Given the description of an element on the screen output the (x, y) to click on. 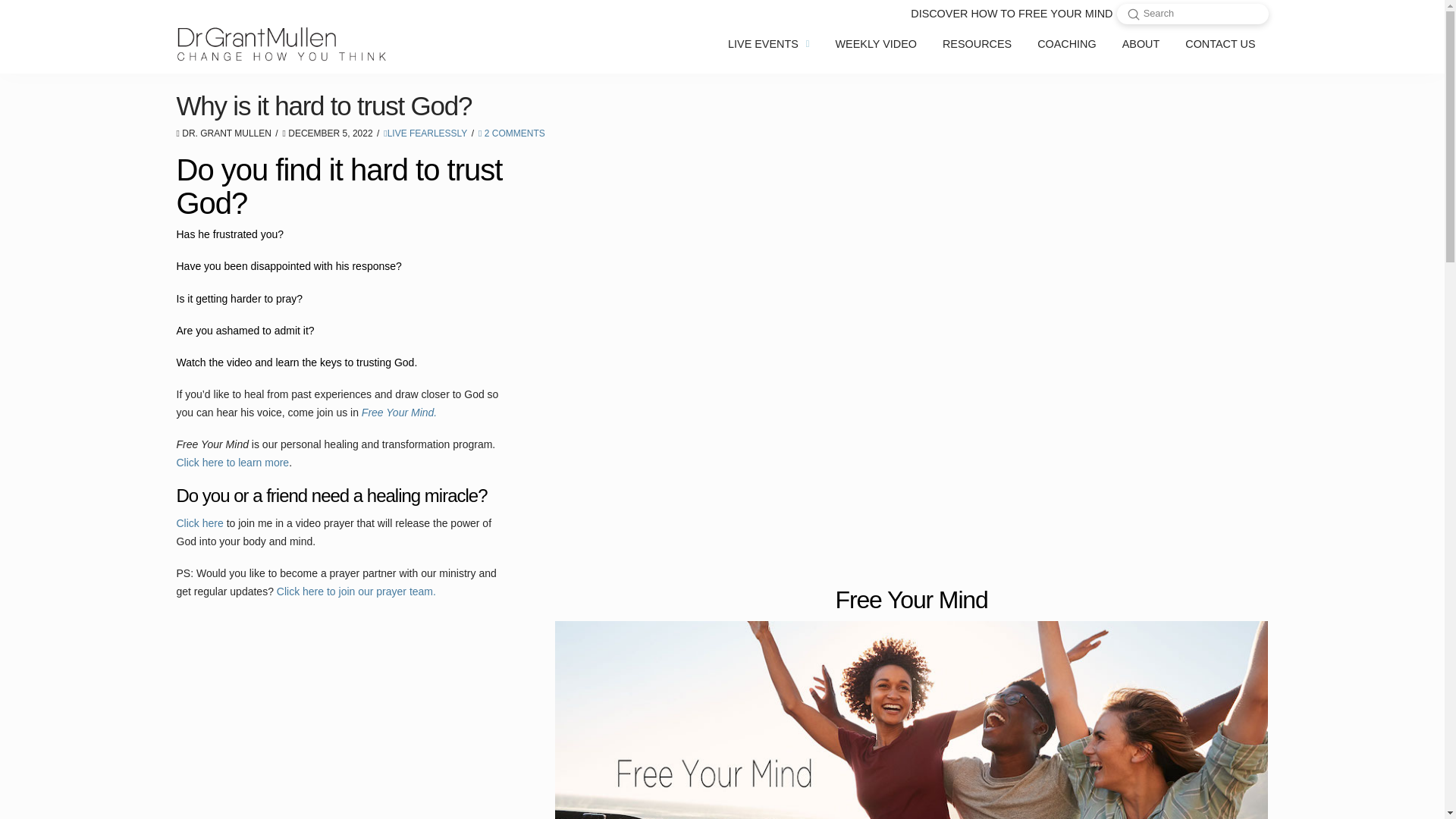
Click here to learn more (232, 462)
COACHING (1067, 44)
Free Your Mind. (398, 412)
Click here to join our prayer team. (355, 591)
LIVE EVENTS (768, 44)
Click here (199, 522)
ABOUT (1141, 44)
RESOURCES (977, 44)
2 COMMENTS (511, 132)
WEEKLY VIDEO (876, 44)
